Given the description of an element on the screen output the (x, y) to click on. 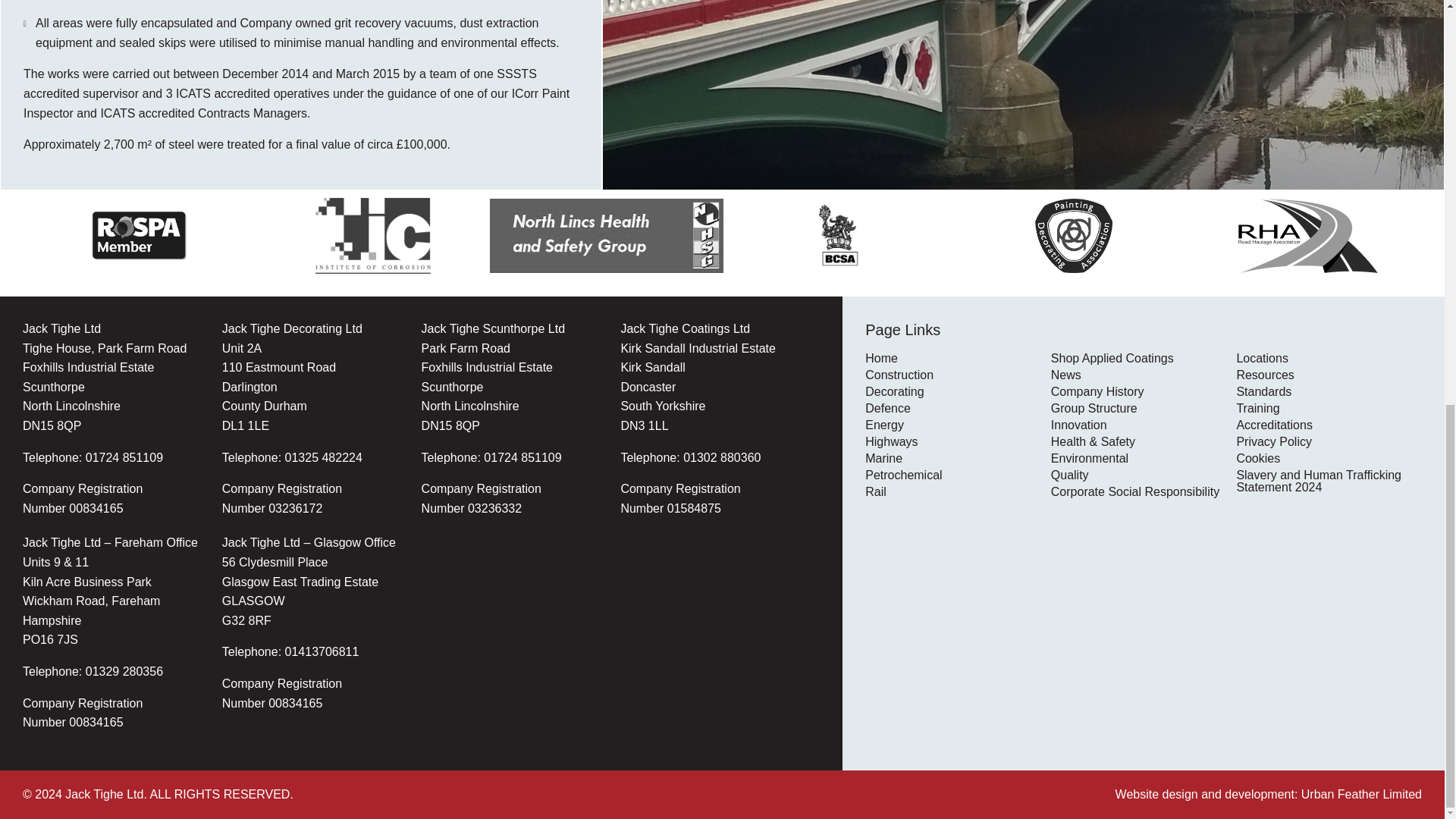
Web design by Urban Feather (1268, 793)
